Given the description of an element on the screen output the (x, y) to click on. 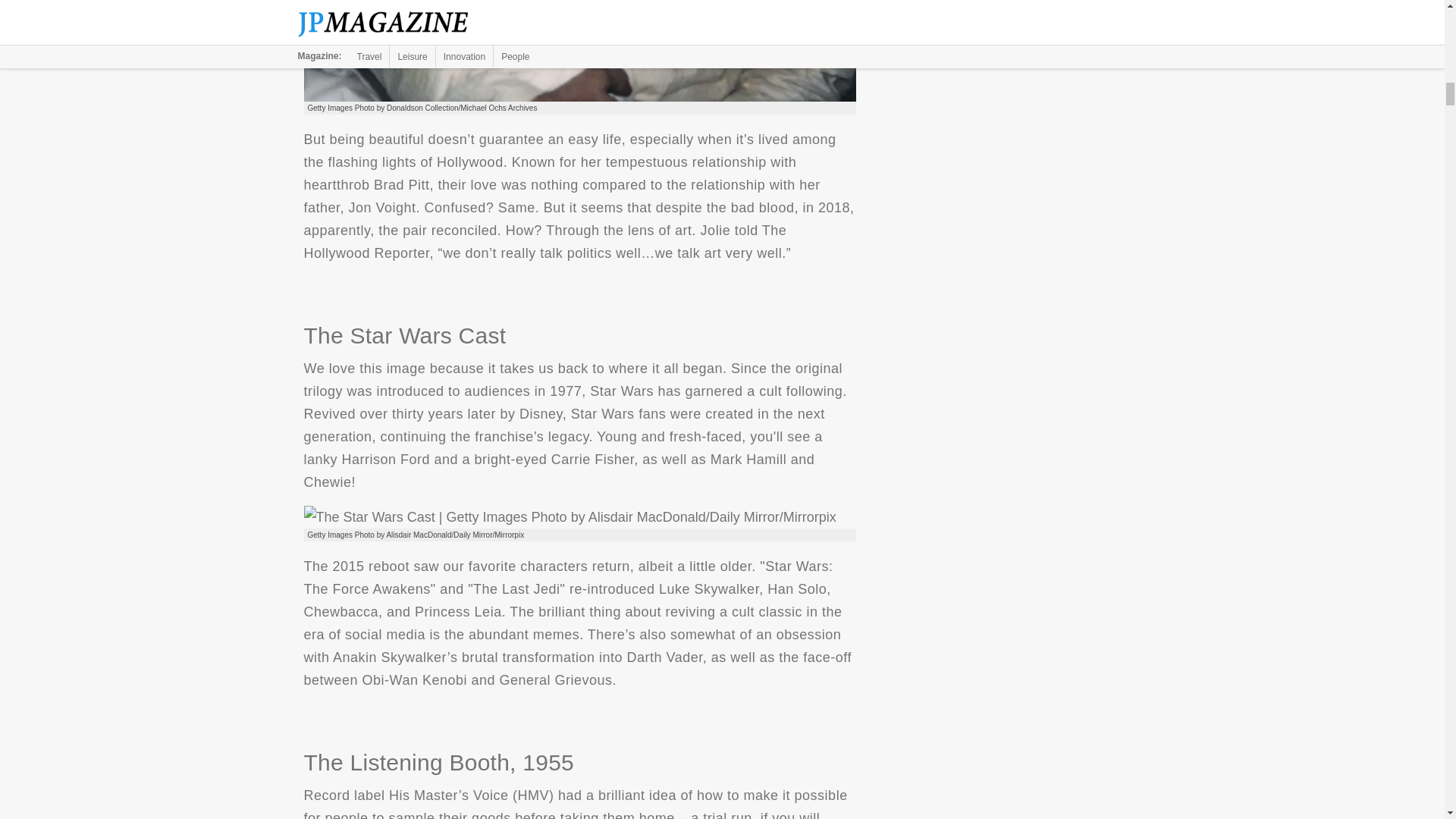
The Star Wars Cast (568, 517)
Baby Jolie (579, 50)
